Given the description of an element on the screen output the (x, y) to click on. 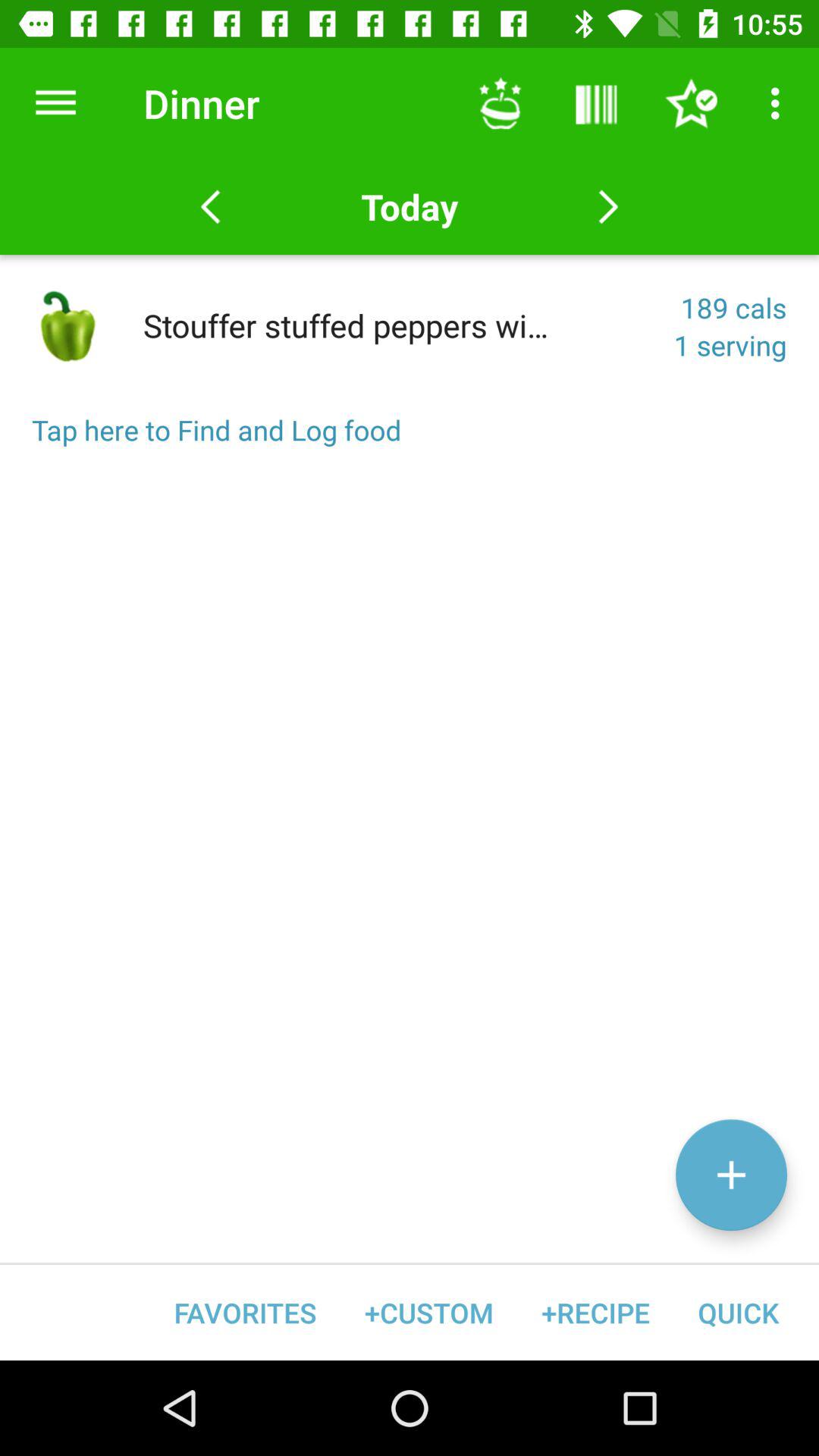
turn on the item next to the quick icon (595, 1312)
